Given the description of an element on the screen output the (x, y) to click on. 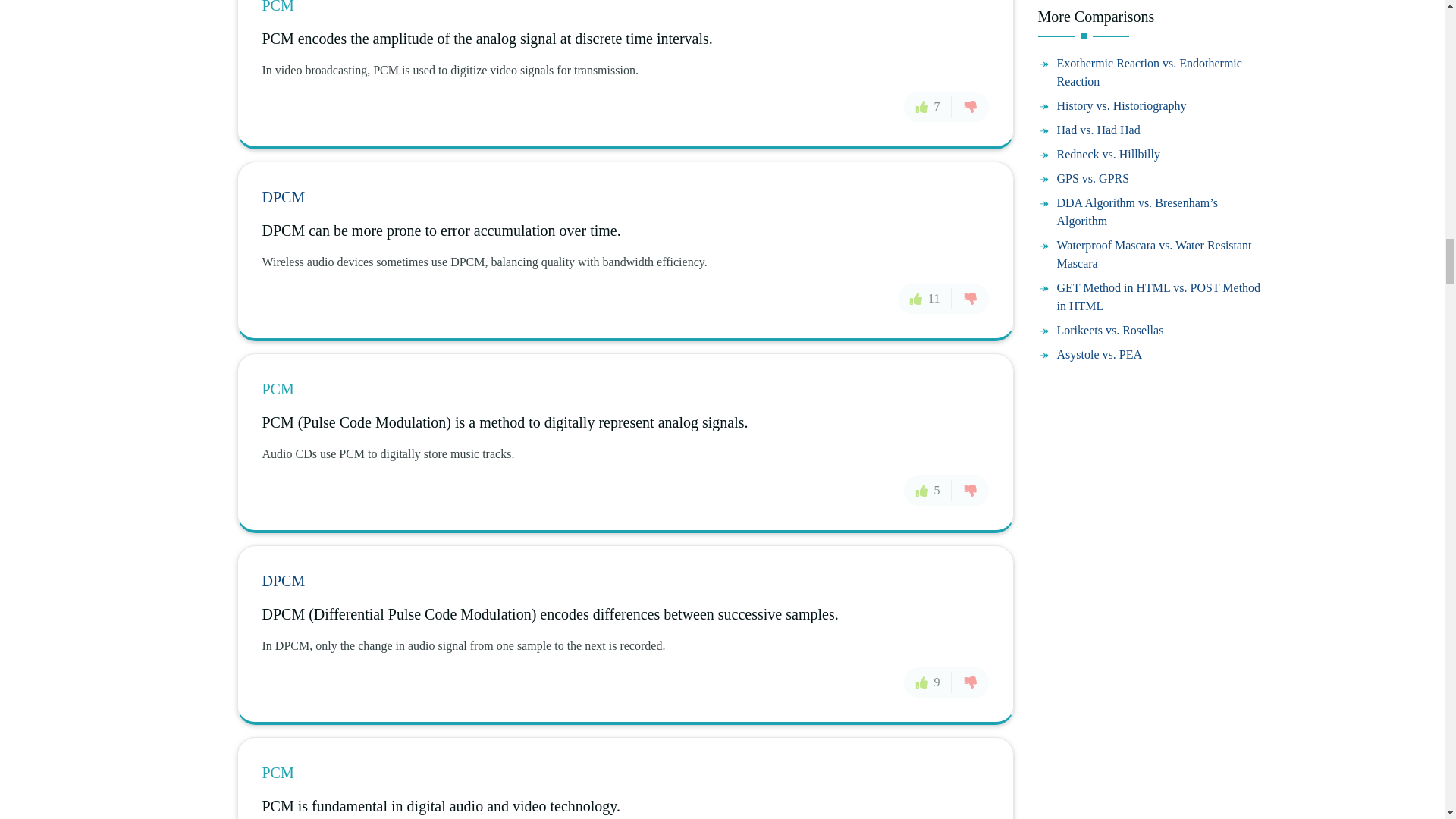
7 (928, 106)
